Given the description of an element on the screen output the (x, y) to click on. 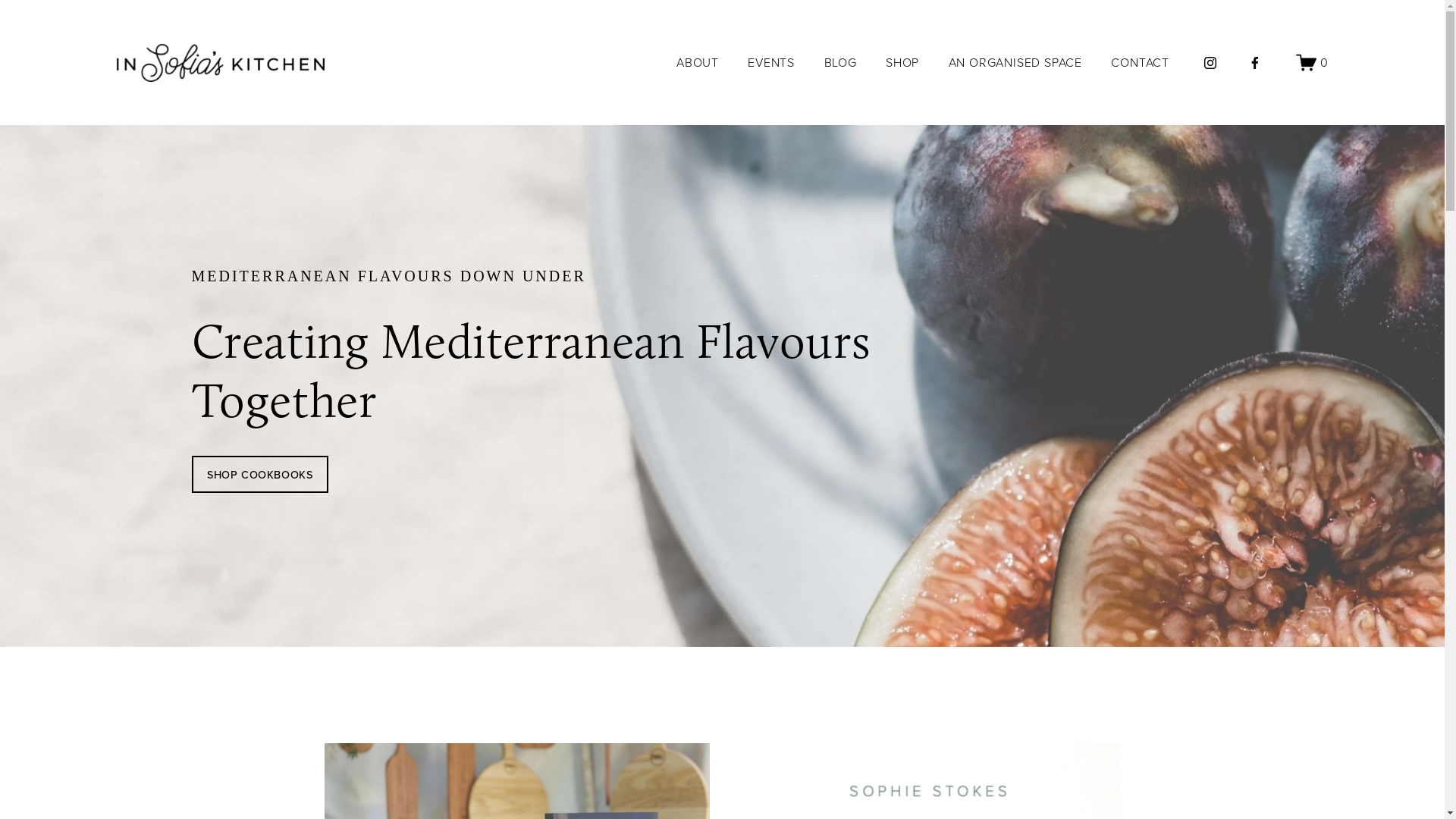
ABOUT Element type: text (697, 62)
0 Element type: text (1311, 62)
AN ORGANISED SPACE Element type: text (1015, 62)
SHOP Element type: text (902, 62)
BLOG Element type: text (839, 62)
SHOP COOKBOOKS Element type: text (259, 473)
CONTACT Element type: text (1139, 62)
EVENTS Element type: text (770, 62)
